Given the description of an element on the screen output the (x, y) to click on. 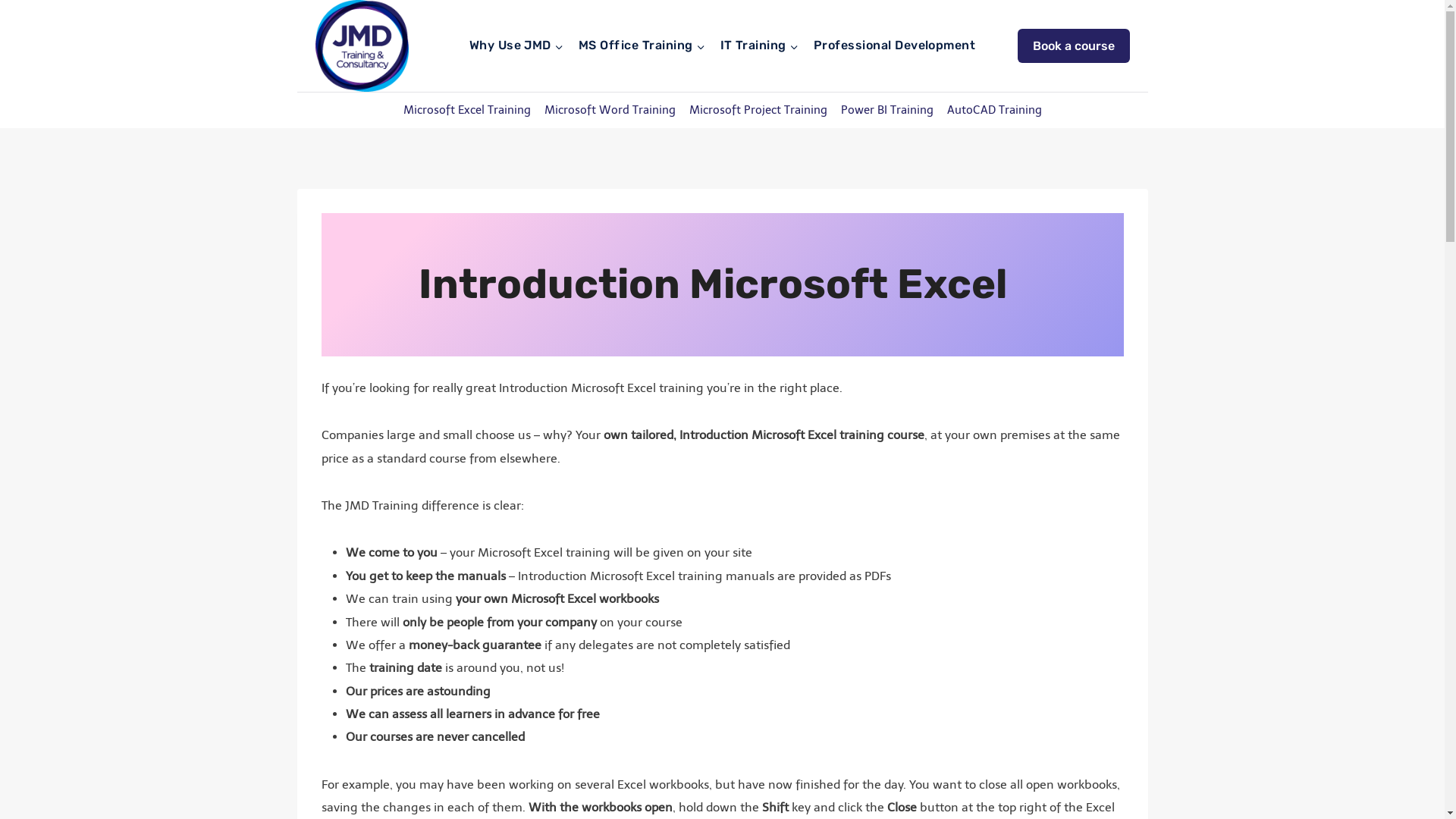
Microsoft Excel Training Element type: text (465, 110)
Why Use JMD Element type: text (516, 45)
Power BI Training Element type: text (887, 110)
Microsoft Word Training Element type: text (608, 110)
Microsoft Project Training Element type: text (758, 110)
IT Training Element type: text (759, 45)
Book a course Element type: text (1073, 45)
AutoCAD Training Element type: text (994, 110)
Professional Development Element type: text (894, 45)
MS Office Training Element type: text (641, 45)
